Given the description of an element on the screen output the (x, y) to click on. 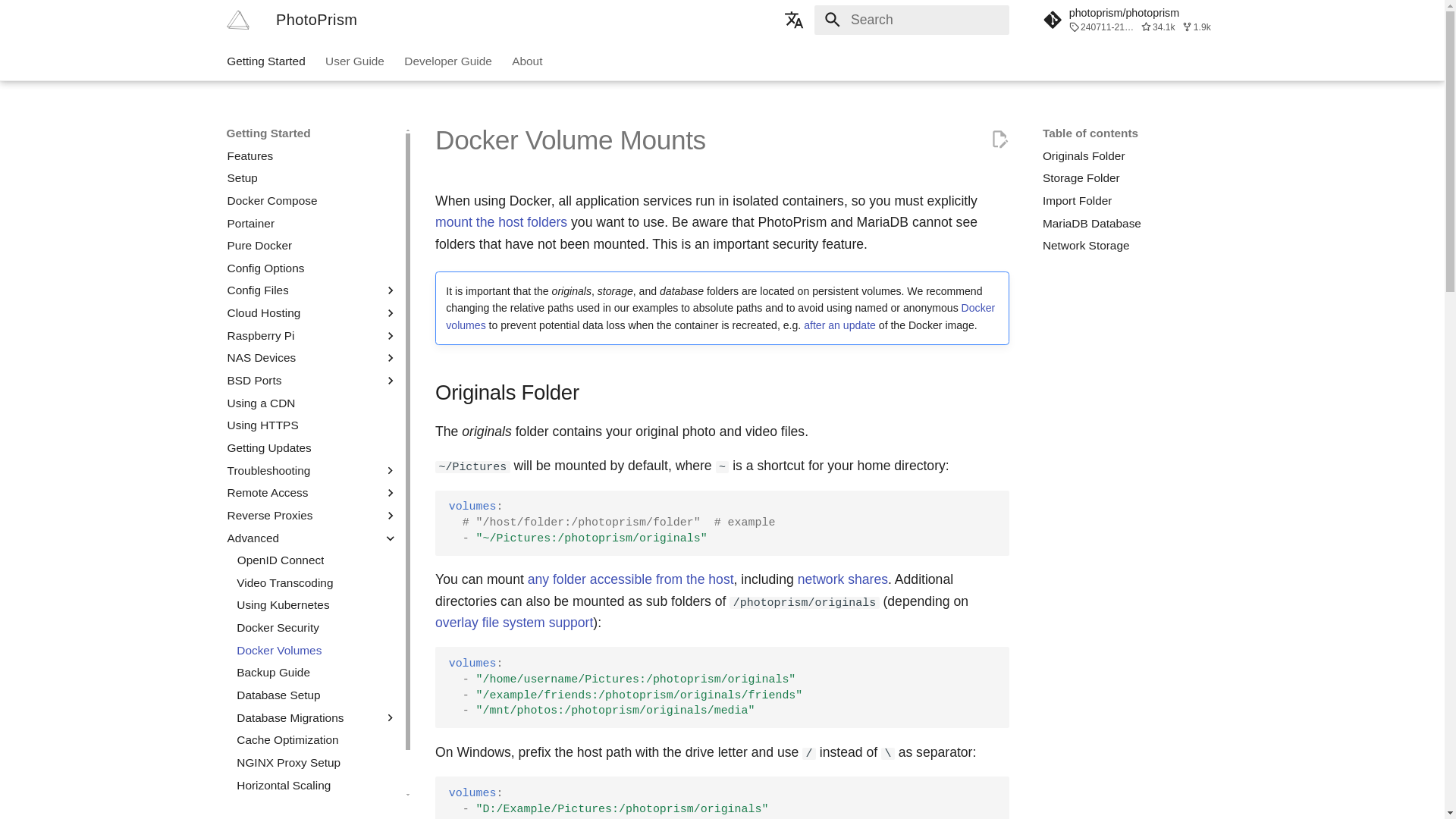
Setup (312, 177)
Pure Docker (312, 245)
Getting Started (266, 60)
Edit this page (999, 138)
Developer Guide (448, 60)
Portainer (312, 223)
Go to repository (1129, 20)
Using a CDN (312, 403)
Getting Updates (312, 447)
Config Options (312, 268)
